Given the description of an element on the screen output the (x, y) to click on. 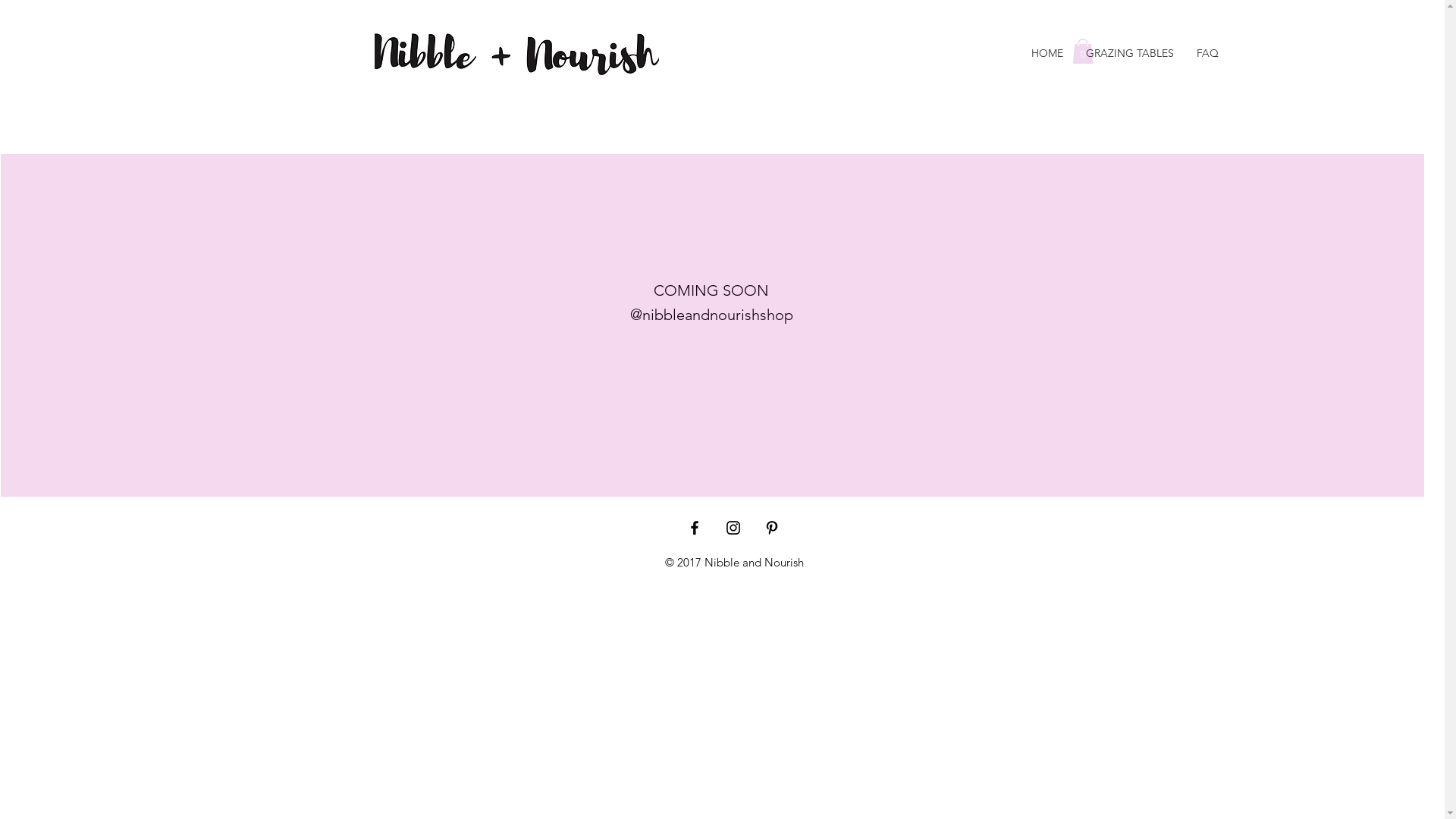
GRAZING TABLES Element type: text (1129, 53)
0 Element type: text (1082, 50)
HOME Element type: text (1046, 53)
FAQ Element type: text (1207, 53)
